Given the description of an element on the screen output the (x, y) to click on. 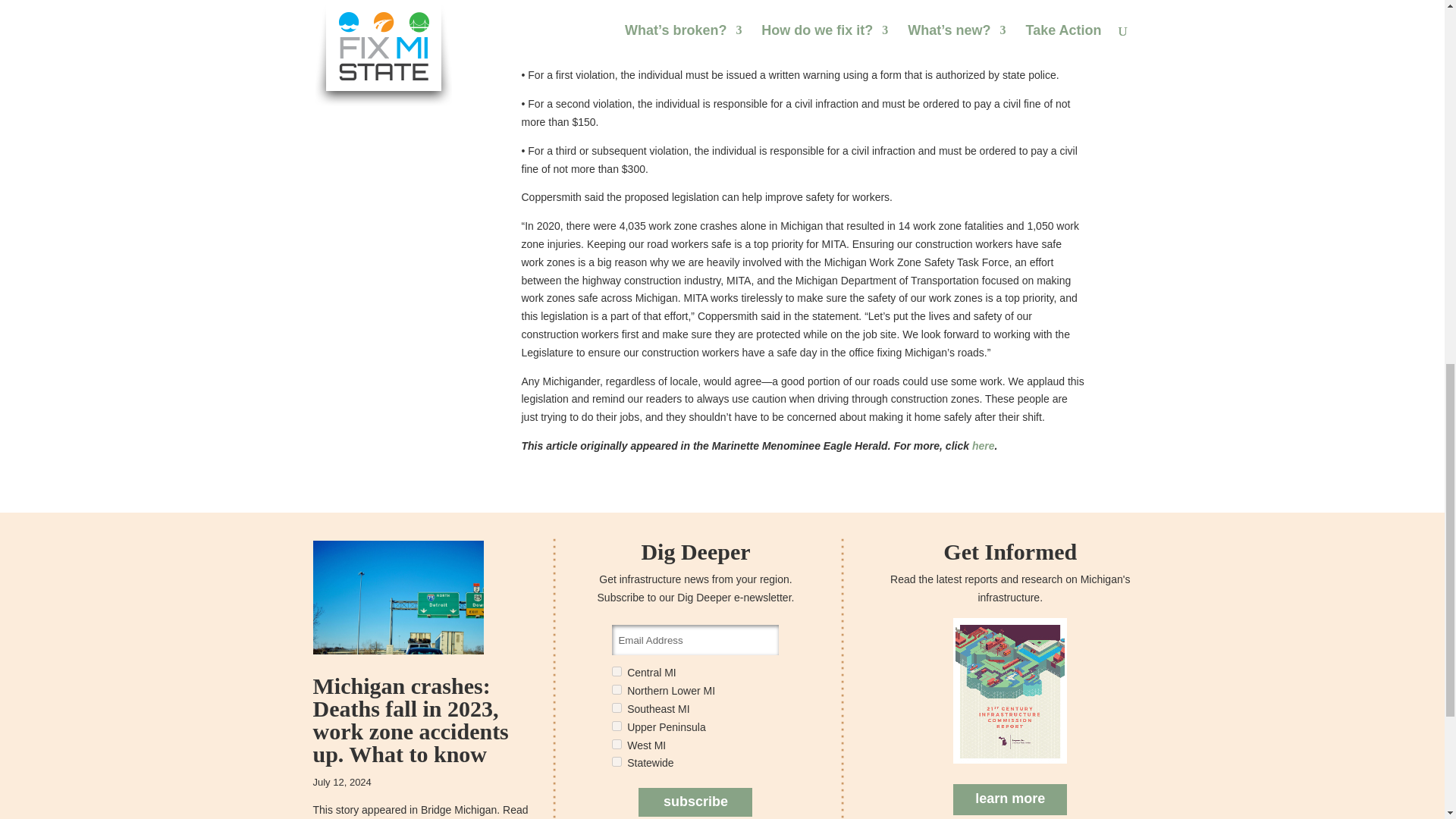
West MI (616, 744)
here (983, 445)
Upper Peninsula (616, 726)
Southeast MI (616, 707)
Subscribe (695, 801)
Central MI (616, 671)
Statewide (616, 761)
Northern Lower MI (616, 689)
